Given the description of an element on the screen output the (x, y) to click on. 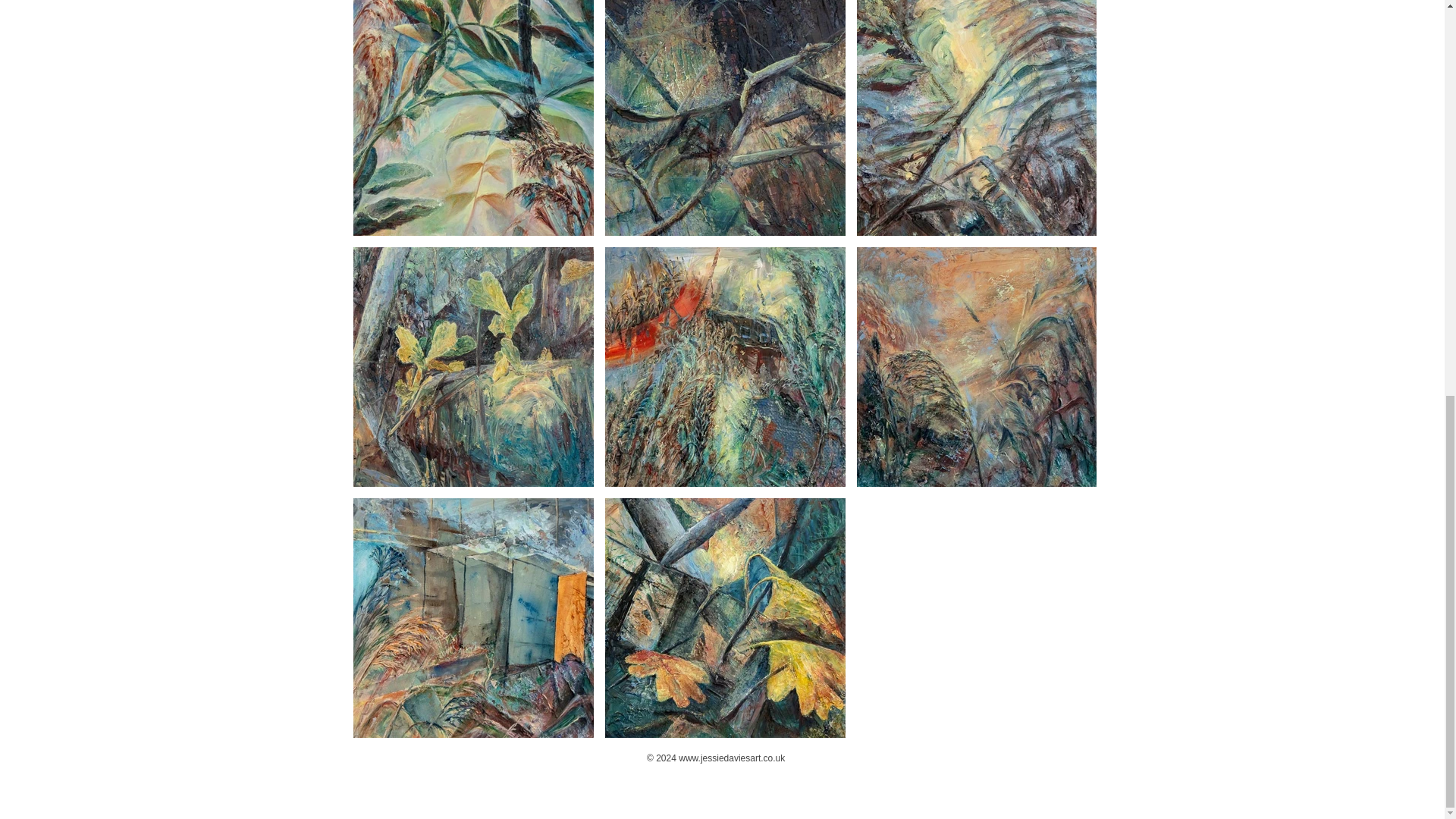
www.jessiedaviesart.co.uk (731, 757)
